Given the description of an element on the screen output the (x, y) to click on. 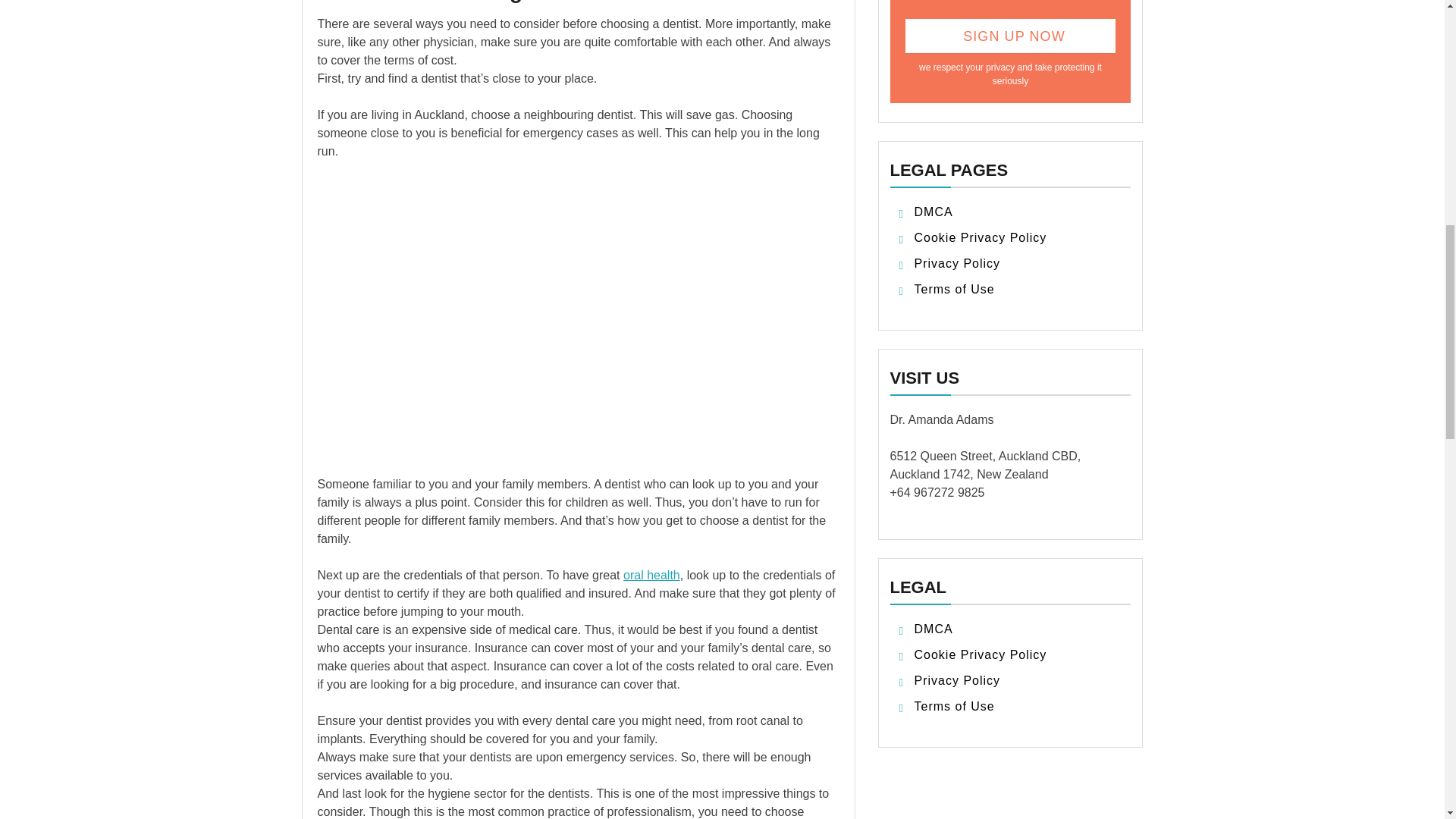
Terms of Use (954, 288)
Sign Up Now (1010, 35)
Cookie Privacy Policy (980, 237)
oral health (651, 574)
Privacy Policy (957, 680)
Privacy Policy (957, 263)
Cookie Privacy Policy (980, 654)
Sign Up Now (1010, 35)
DMCA (933, 628)
DMCA (933, 211)
